Given the description of an element on the screen output the (x, y) to click on. 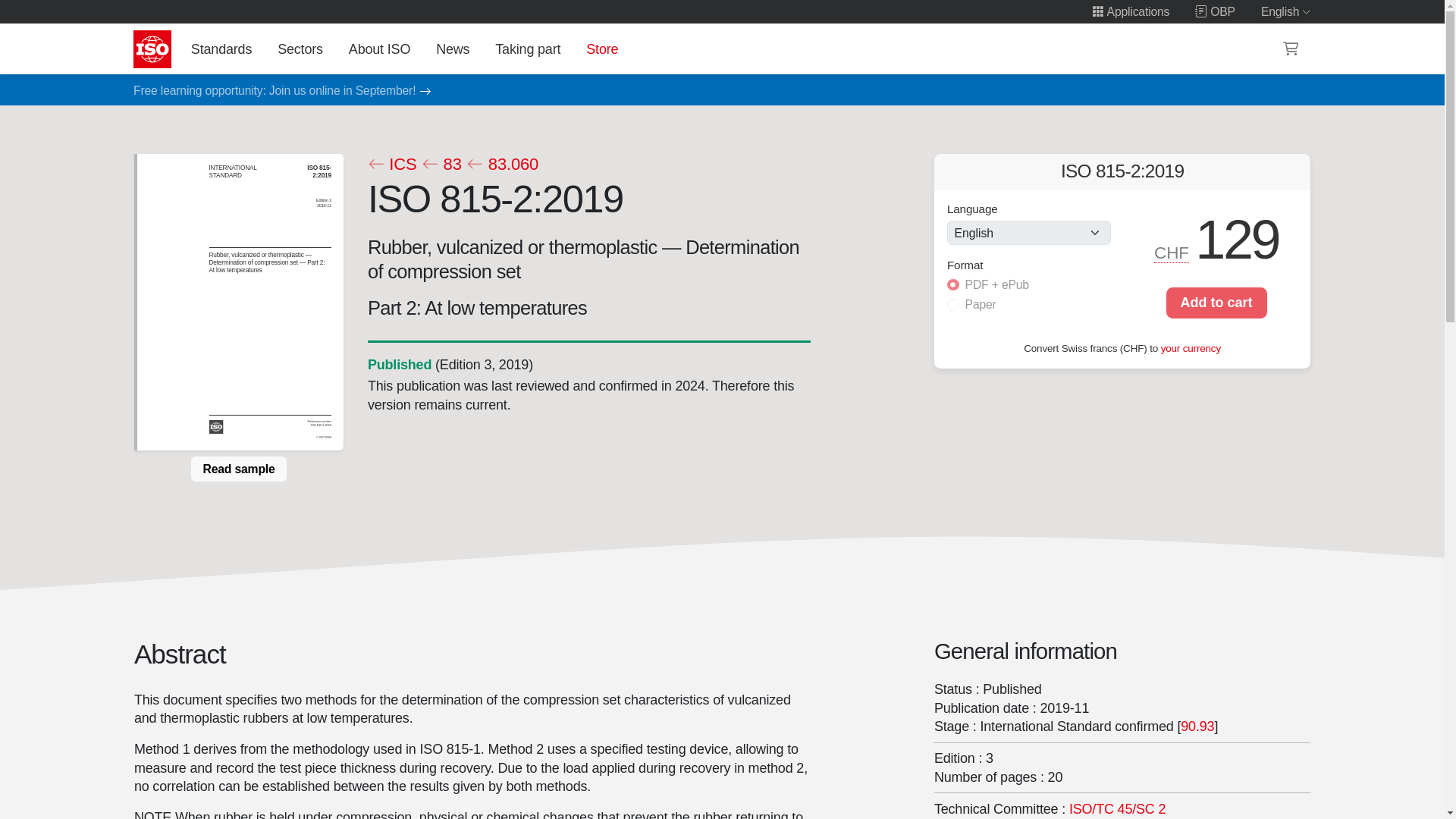
Swiss francs (1171, 252)
About ISO (379, 48)
90.93 (1197, 726)
International Organization for Standardization (152, 48)
English (1285, 11)
ICS (391, 164)
83.060 (501, 164)
your currency (1190, 348)
Free learning opportunity: Join us online in September! (273, 90)
